Given the description of an element on the screen output the (x, y) to click on. 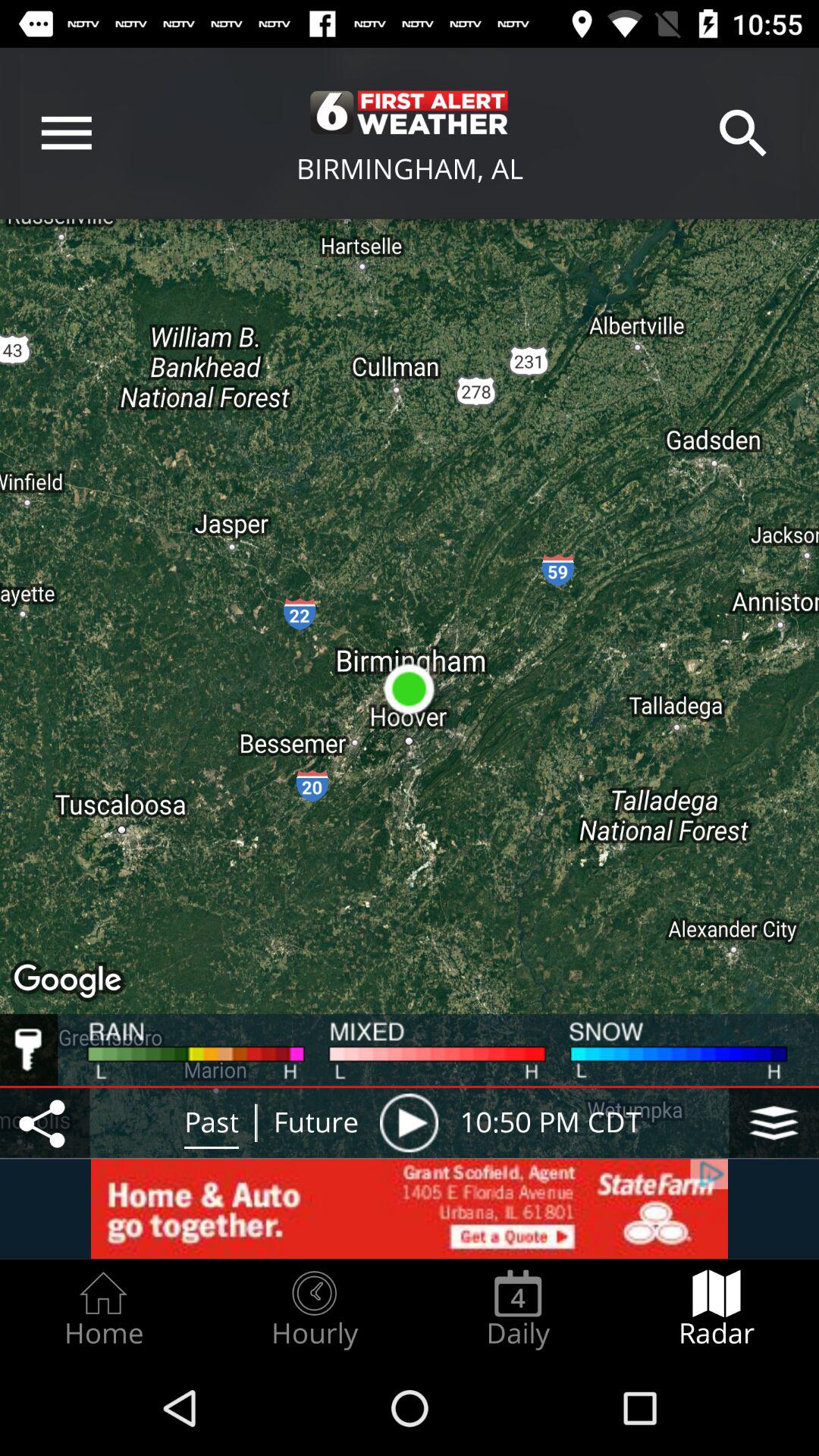
select item next to home icon (314, 1309)
